Given the description of an element on the screen output the (x, y) to click on. 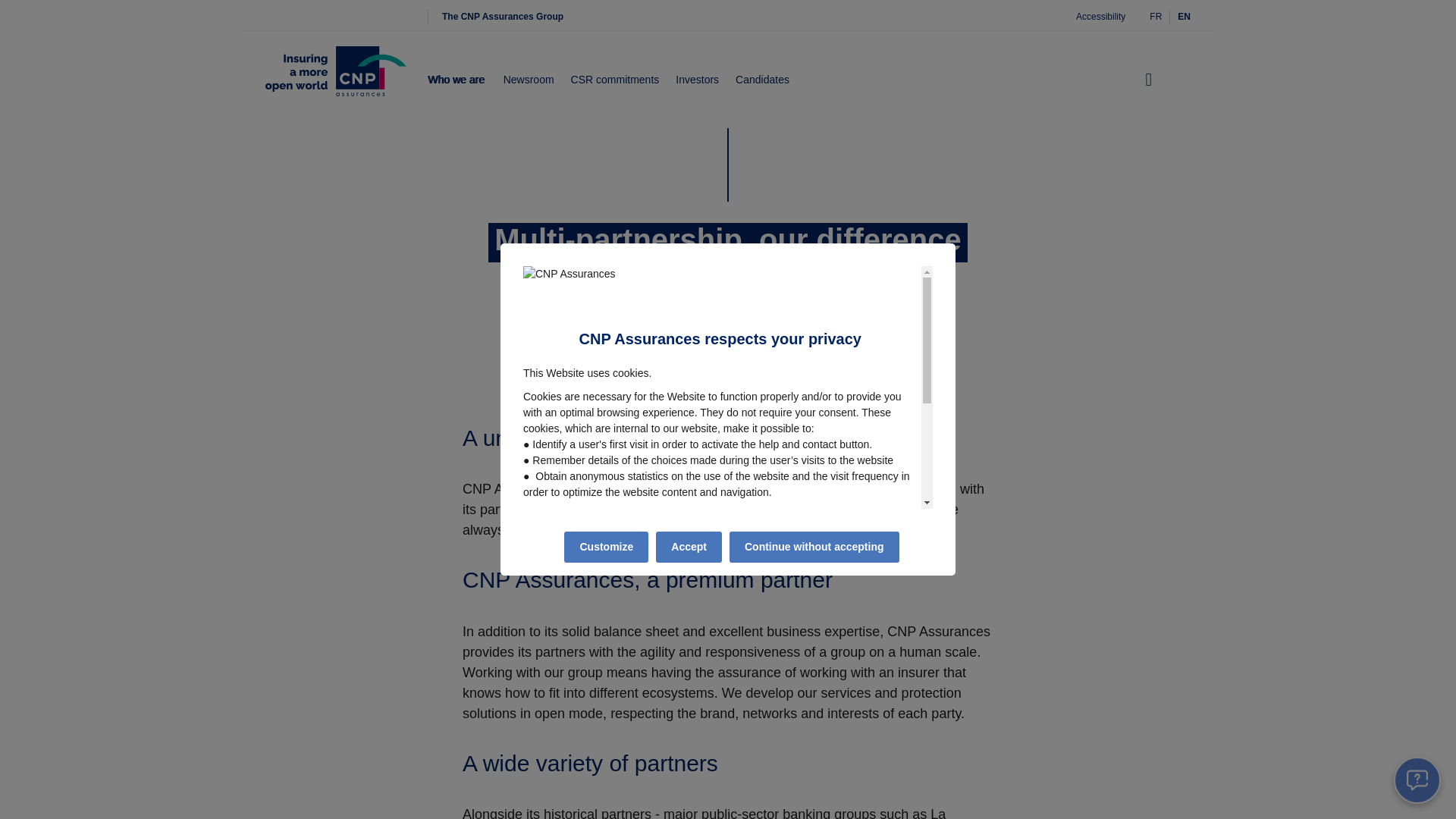
The CNP Assurances Group (502, 16)
CNP Assurances - return to the homepage of the site (335, 80)
